Given the description of an element on the screen output the (x, y) to click on. 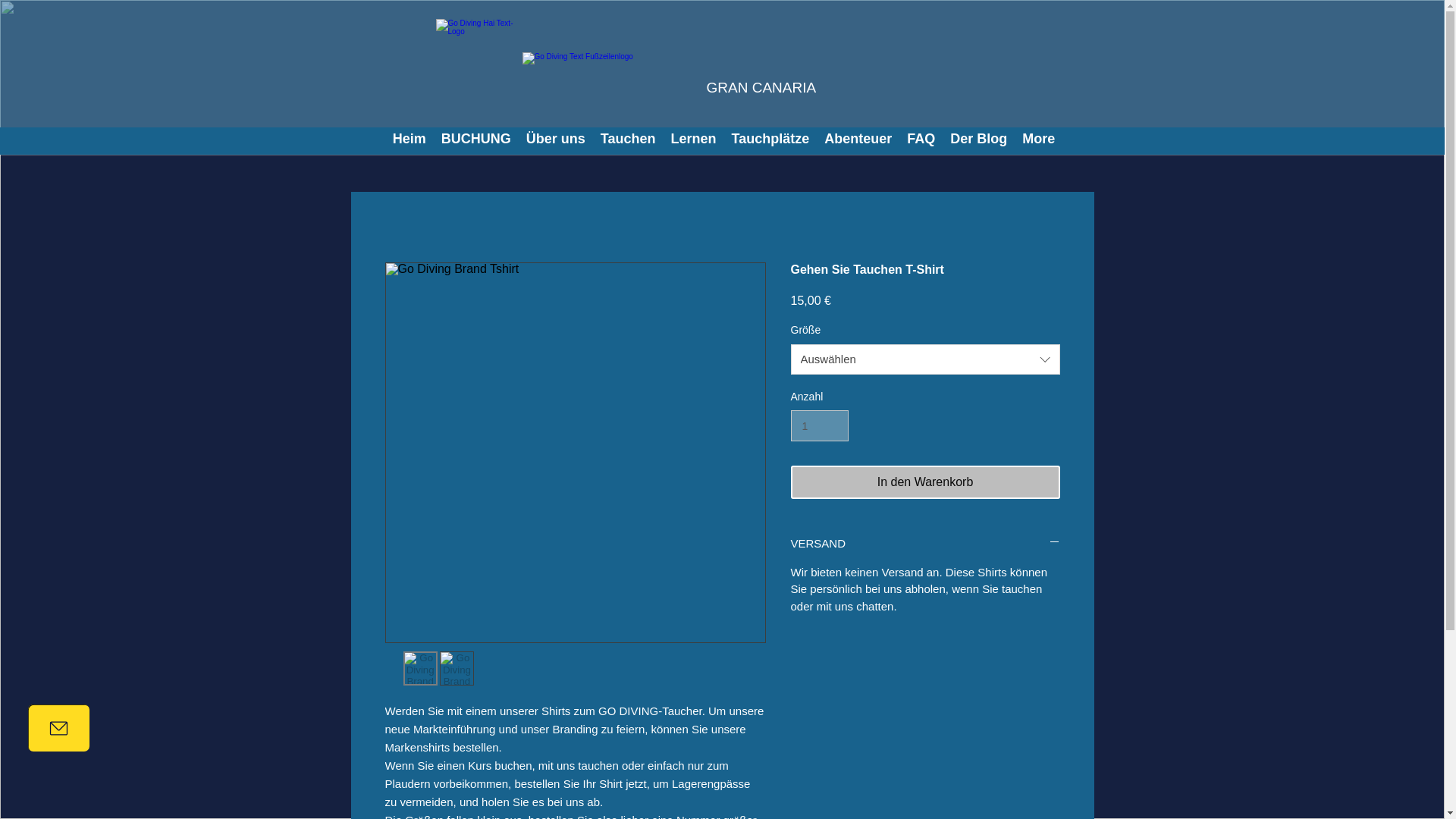
1 (818, 425)
FAQ (920, 140)
Heim (409, 140)
